Given the description of an element on the screen output the (x, y) to click on. 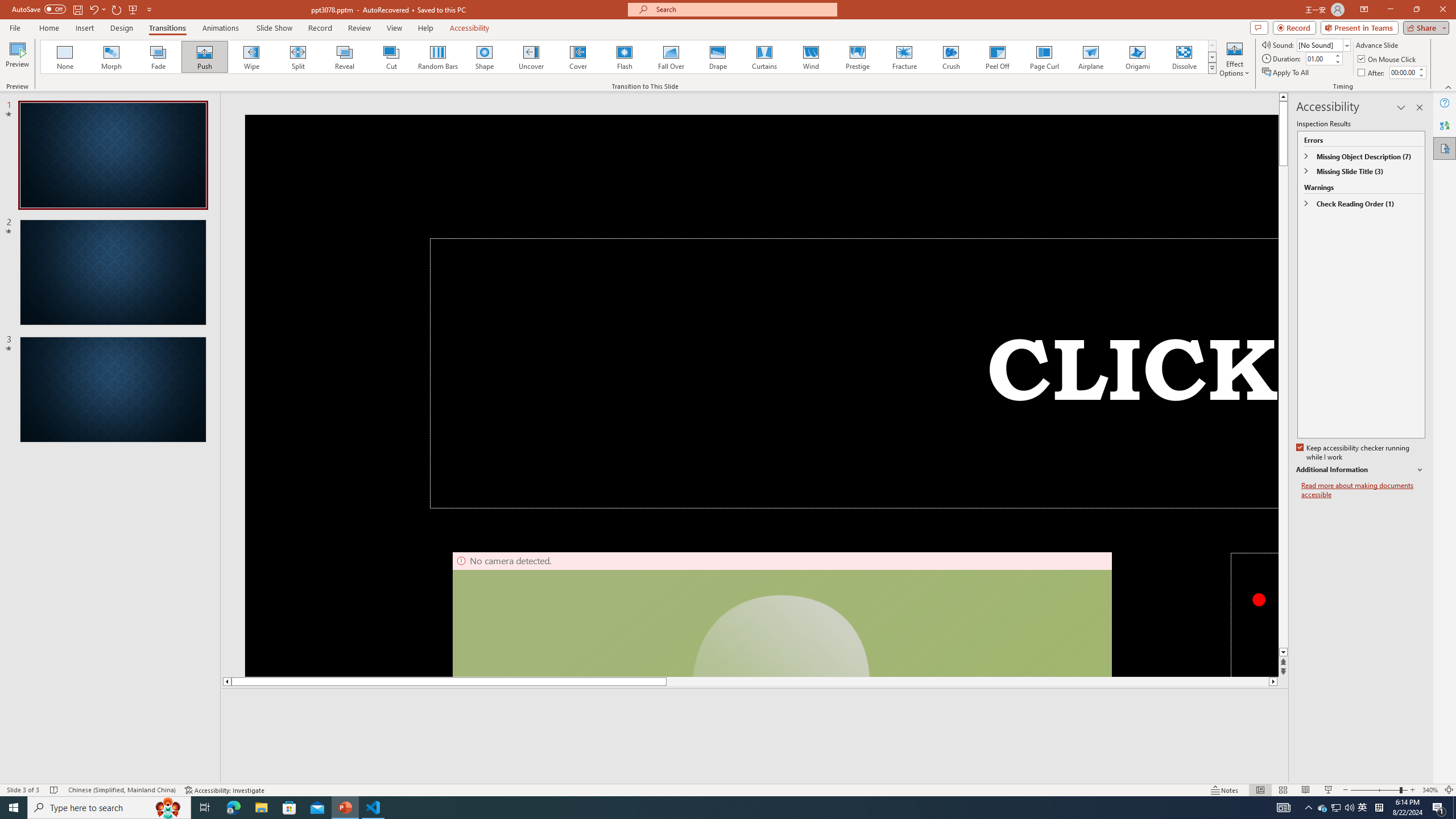
Wind (810, 56)
Origami (1136, 56)
Apply To All (1286, 72)
Peel Off (997, 56)
